Given the description of an element on the screen output the (x, y) to click on. 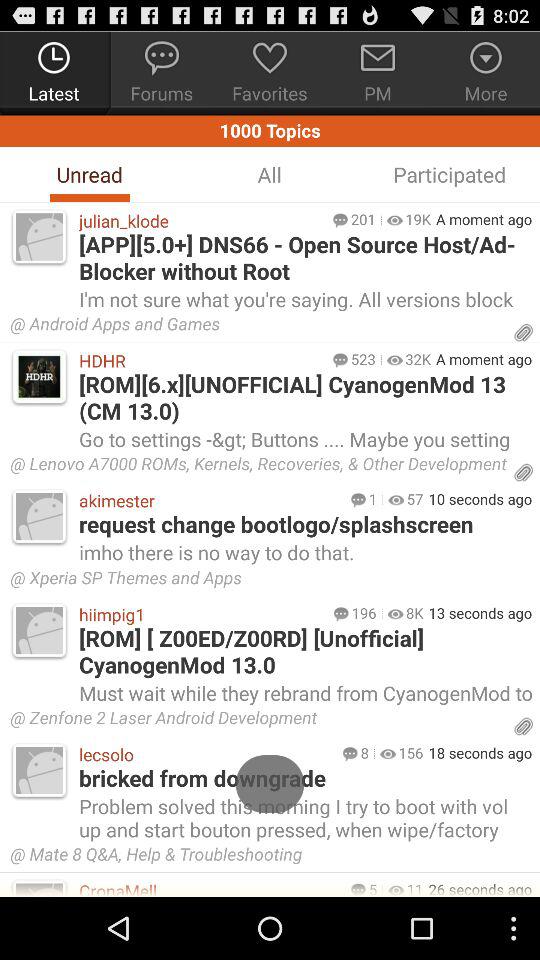
press item below the must wait while (258, 720)
